Given the description of an element on the screen output the (x, y) to click on. 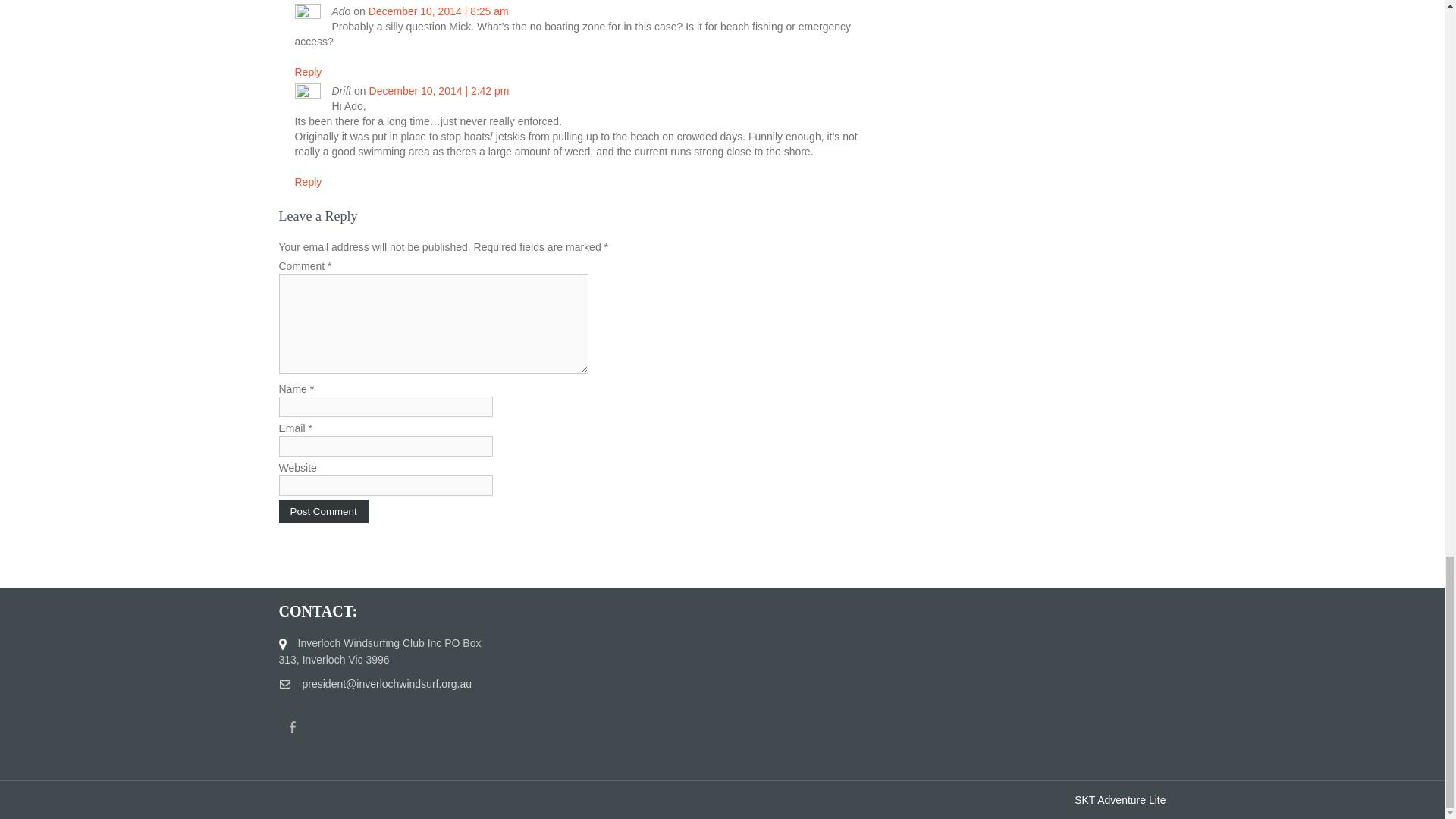
Reply (307, 182)
Post Comment (323, 511)
Post Comment (323, 511)
Reply (307, 71)
